Given the description of an element on the screen output the (x, y) to click on. 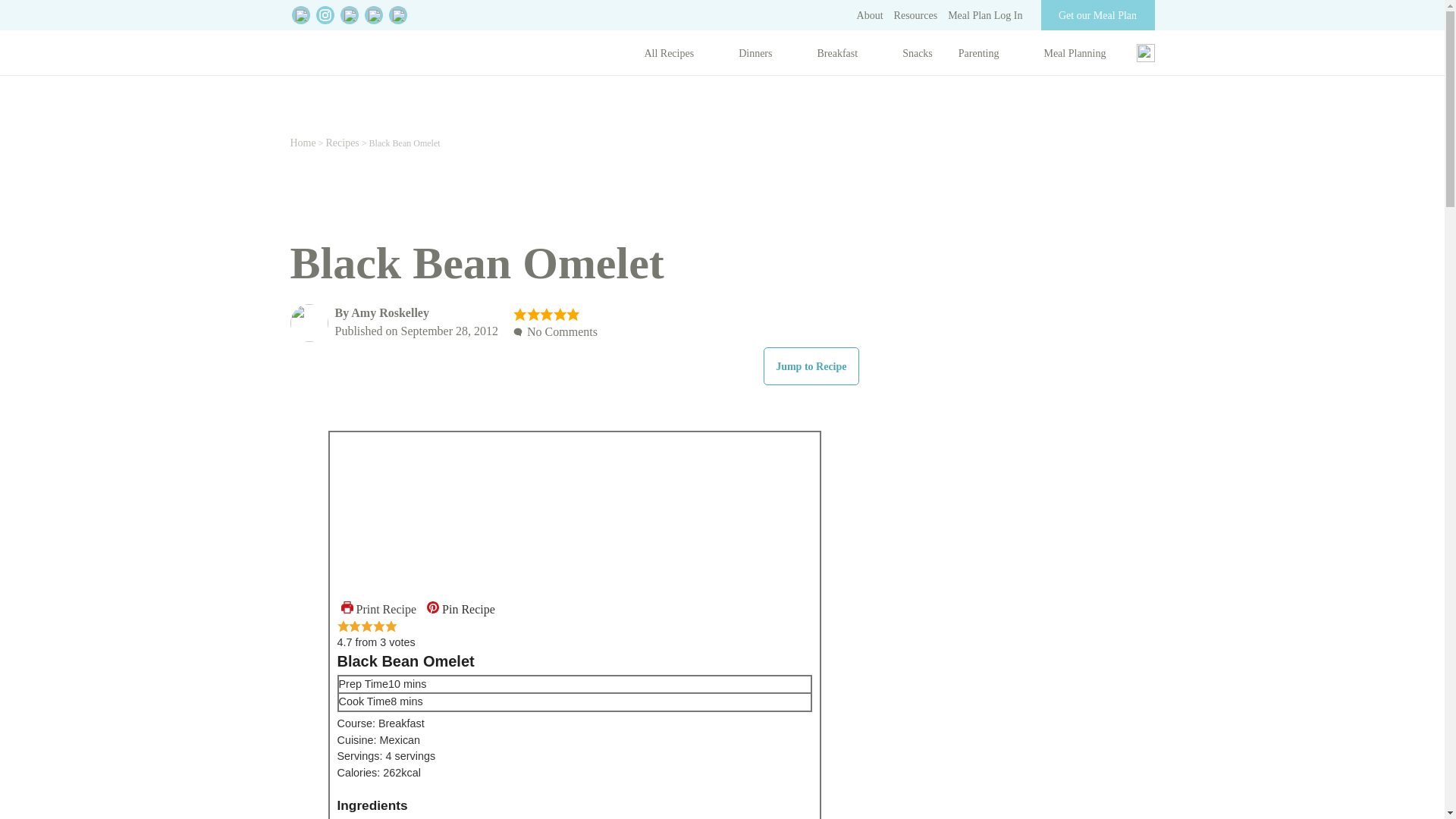
Get our Meal Plan (1093, 15)
All Recipes (677, 56)
Resources (915, 15)
Meal Plan Log In (984, 15)
About (870, 15)
